Given the description of an element on the screen output the (x, y) to click on. 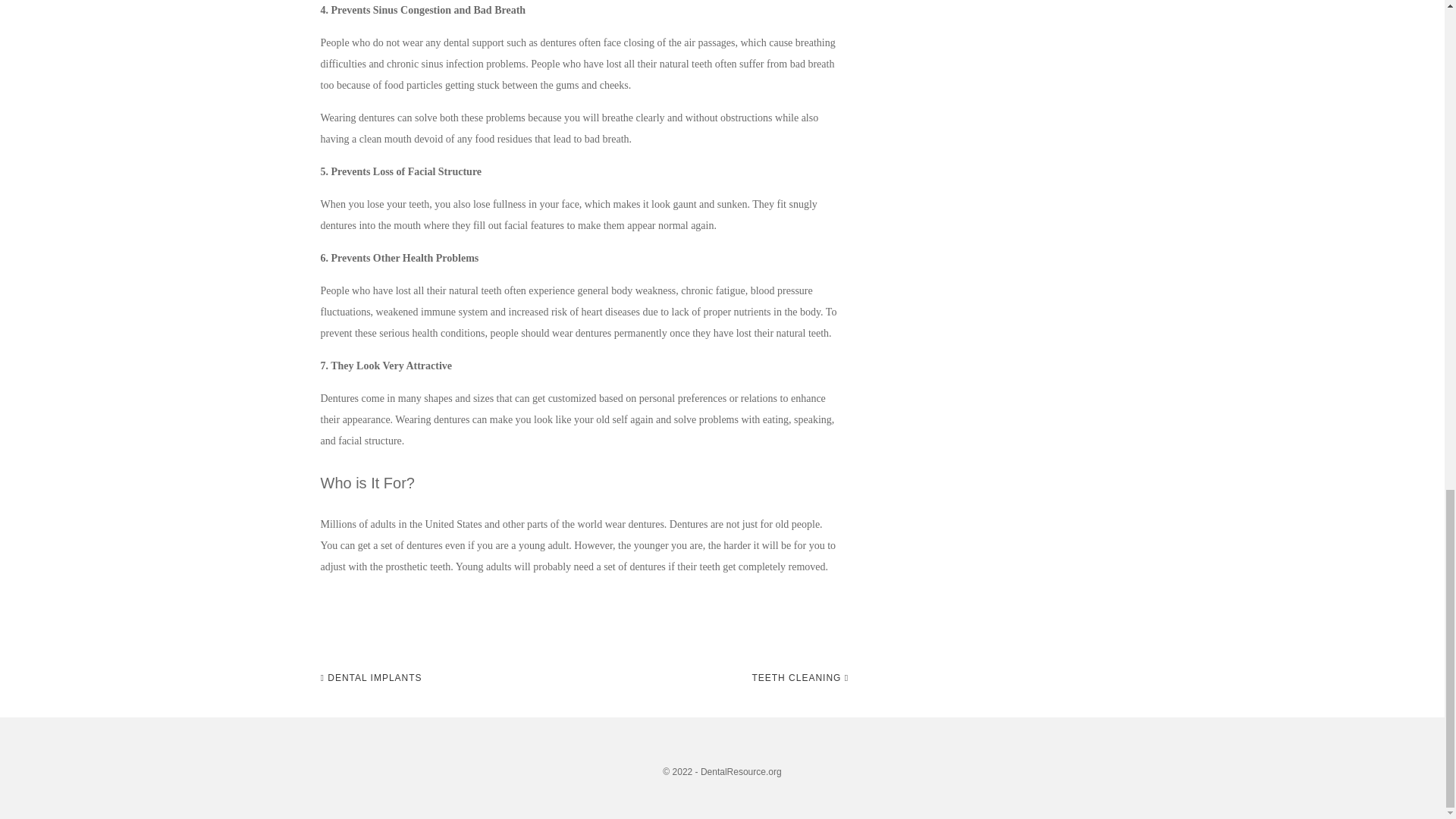
TEETH CLEANING (799, 678)
DENTAL IMPLANTS (371, 678)
